Given the description of an element on the screen output the (x, y) to click on. 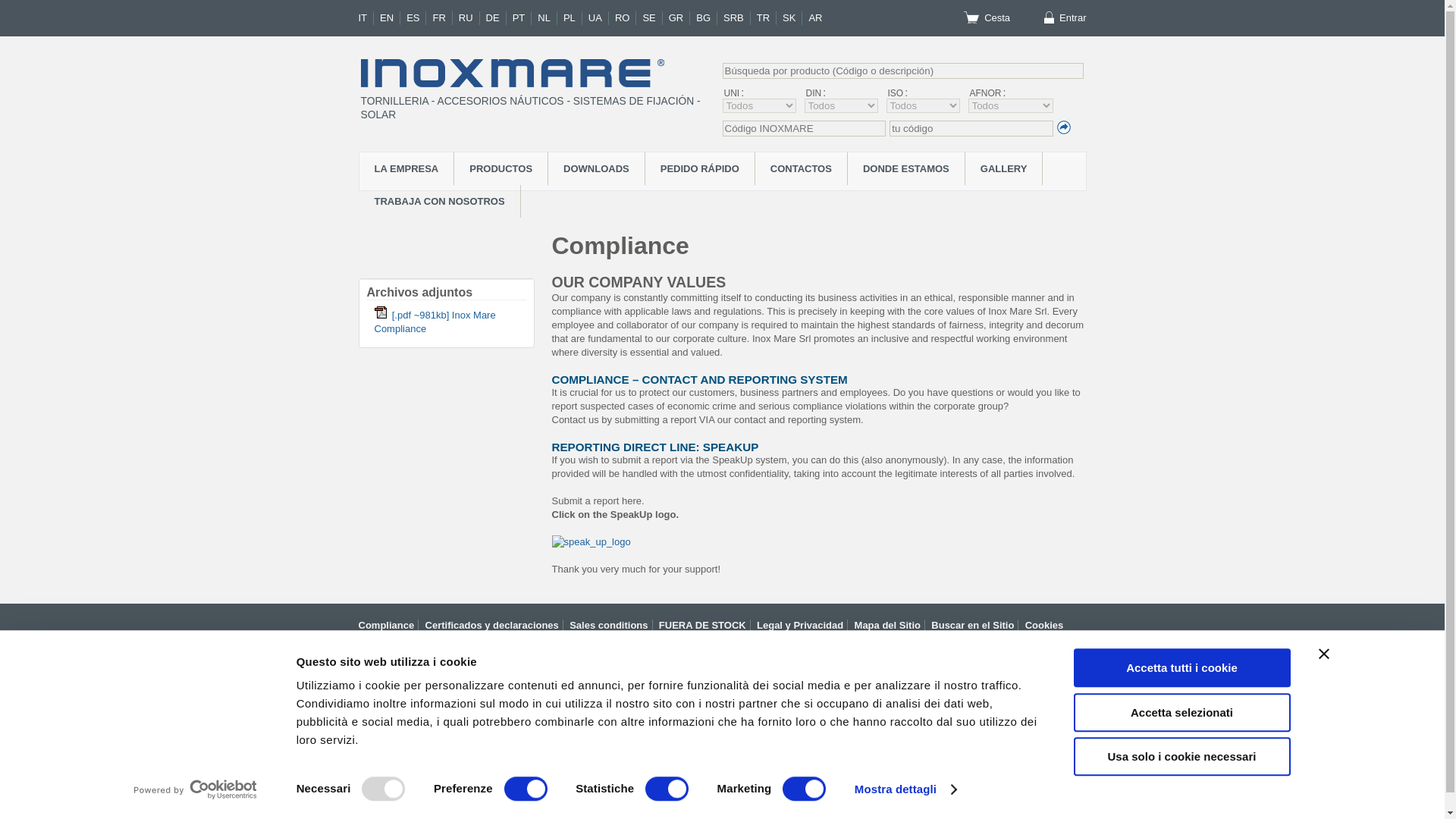
EN (390, 18)
PL (572, 18)
ES (416, 18)
Mostra dettagli (905, 789)
DE (496, 18)
FR (441, 18)
NL (547, 18)
IT (366, 18)
PT (522, 18)
RU (469, 18)
